Given the description of an element on the screen output the (x, y) to click on. 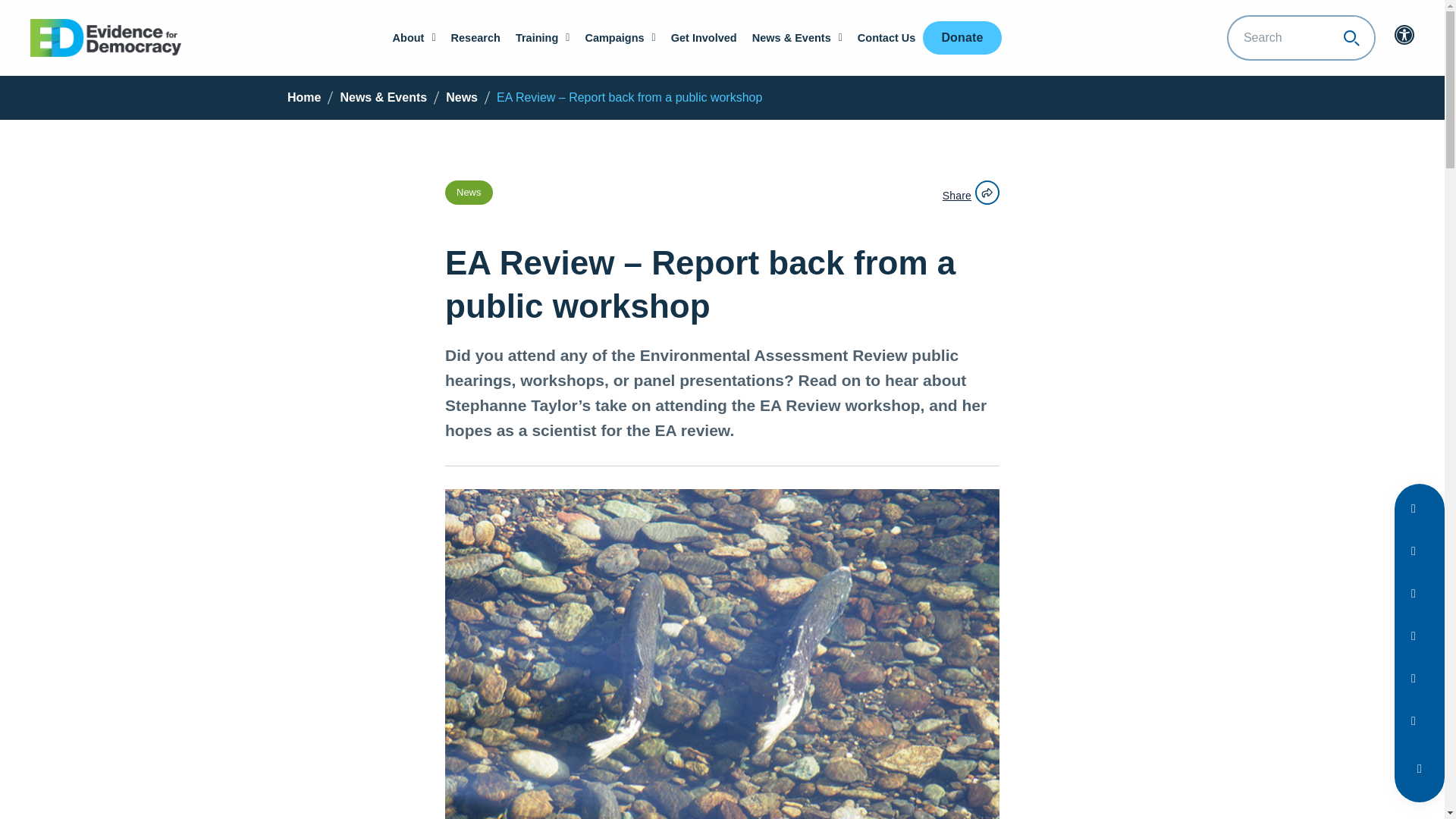
Donate (962, 37)
Get Involved (703, 37)
Training (543, 37)
Campaigns (619, 37)
About (414, 37)
Contact Us (886, 37)
Research (476, 37)
